Given the description of an element on the screen output the (x, y) to click on. 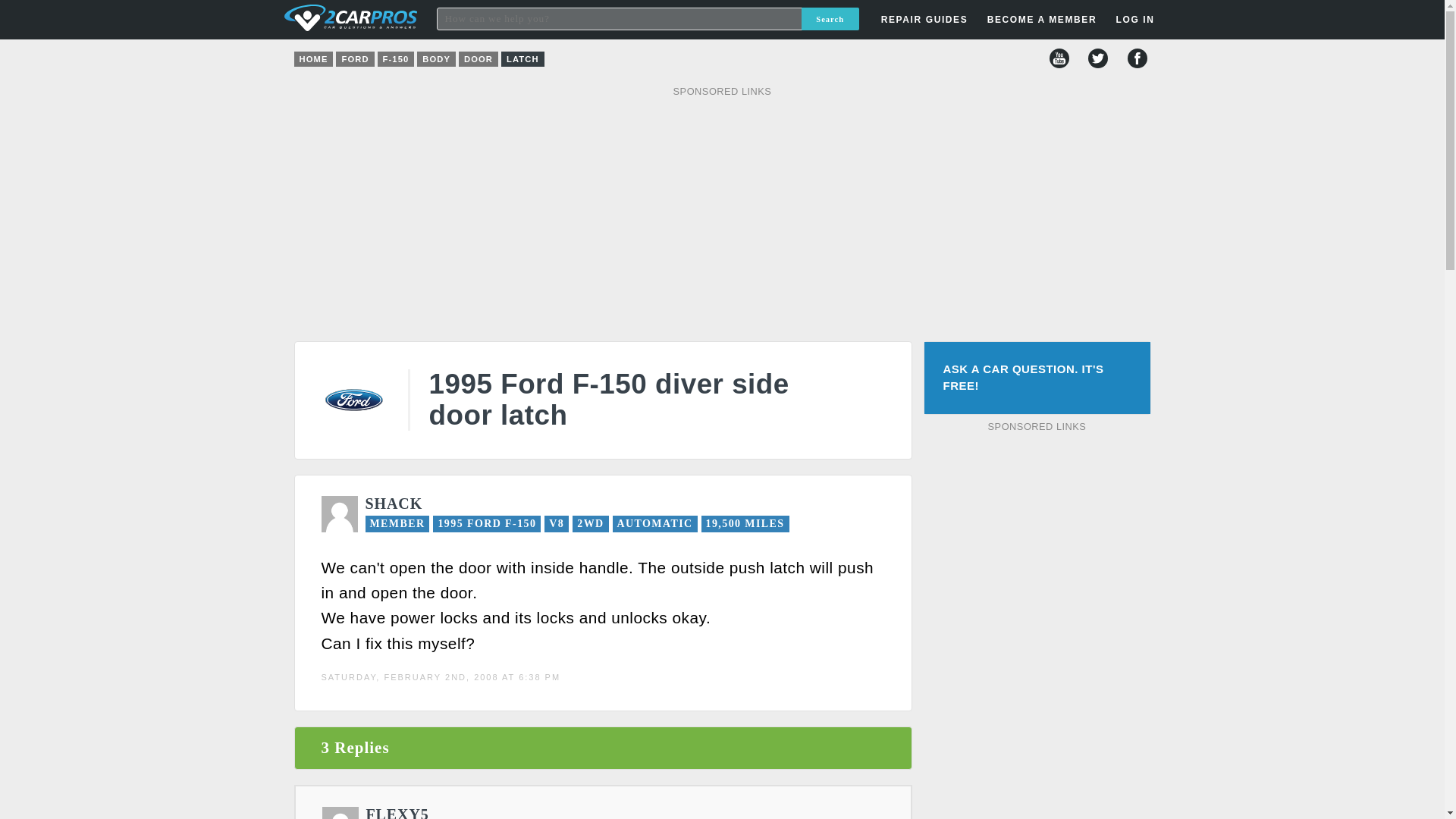
LATCH (522, 58)
BECOME A MEMBER (1041, 19)
DOOR (477, 58)
Search (830, 18)
BODY (435, 58)
Twitter (1097, 57)
Facebook (1136, 57)
YouTube (1058, 57)
LOG IN (1048, 242)
Search (830, 18)
